Given the description of an element on the screen output the (x, y) to click on. 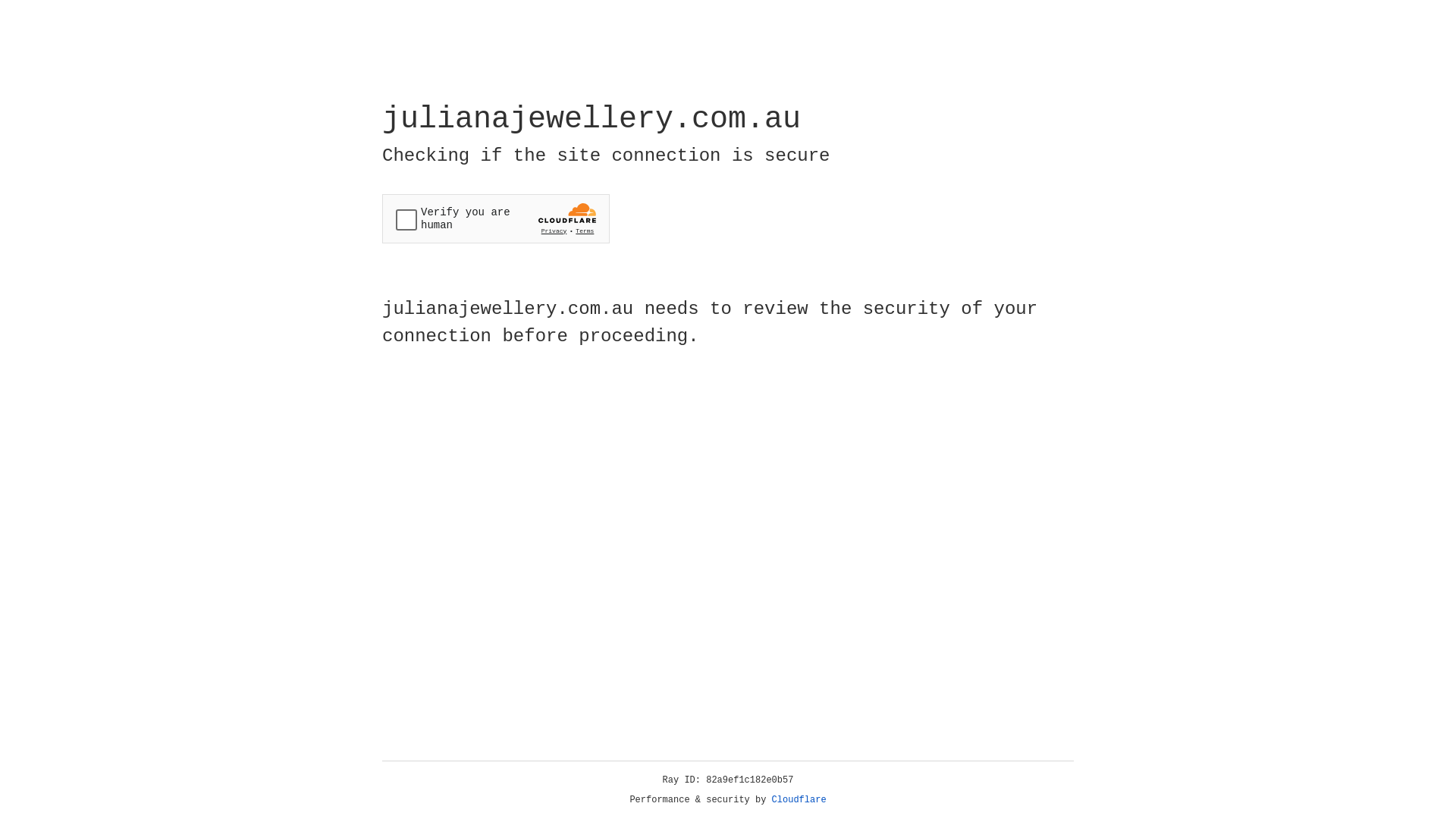
Cloudflare Element type: text (798, 799)
Widget containing a Cloudflare security challenge Element type: hover (495, 218)
